Given the description of an element on the screen output the (x, y) to click on. 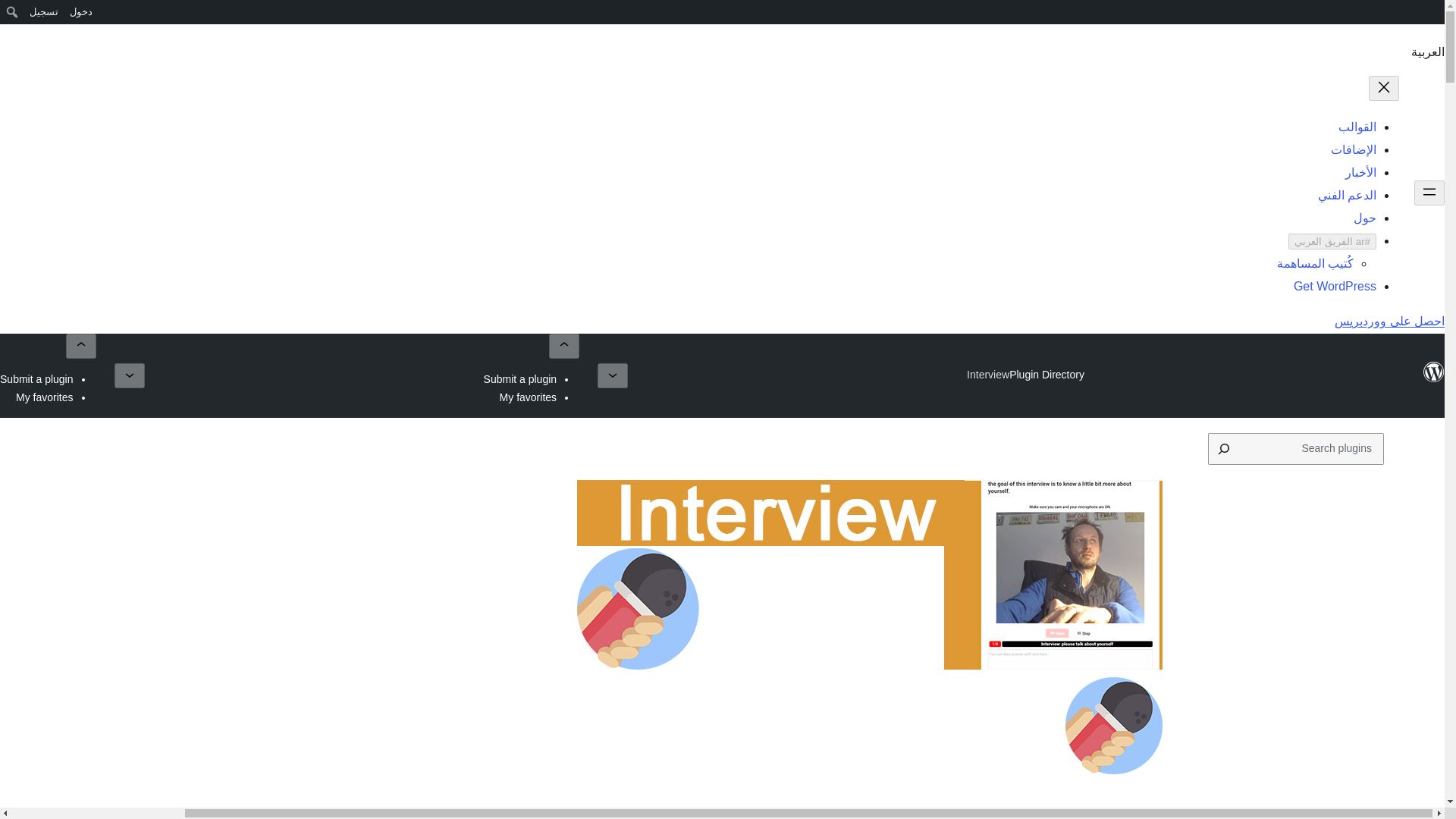
Interview (987, 375)
WordPress.org (1433, 10)
WordPress.org (1433, 372)
WordPress.org (1433, 16)
Plugin Directory (1046, 374)
Submit a plugin (37, 378)
Get WordPress (1334, 286)
My favorites (44, 397)
WordPress.org (1433, 378)
Submit a plugin (520, 378)
My favorites (527, 397)
